Given the description of an element on the screen output the (x, y) to click on. 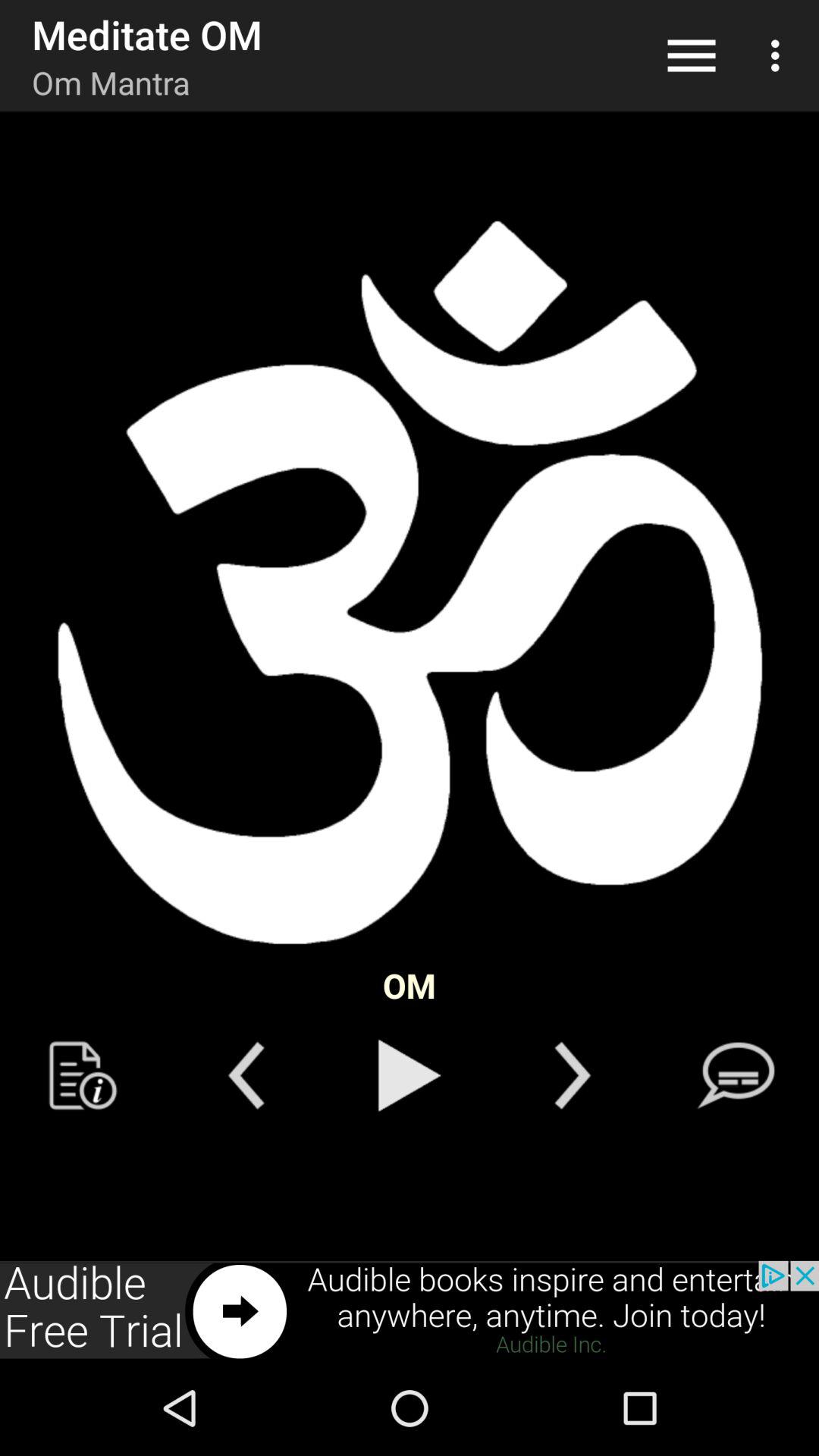
text in previouse (82, 1075)
